Given the description of an element on the screen output the (x, y) to click on. 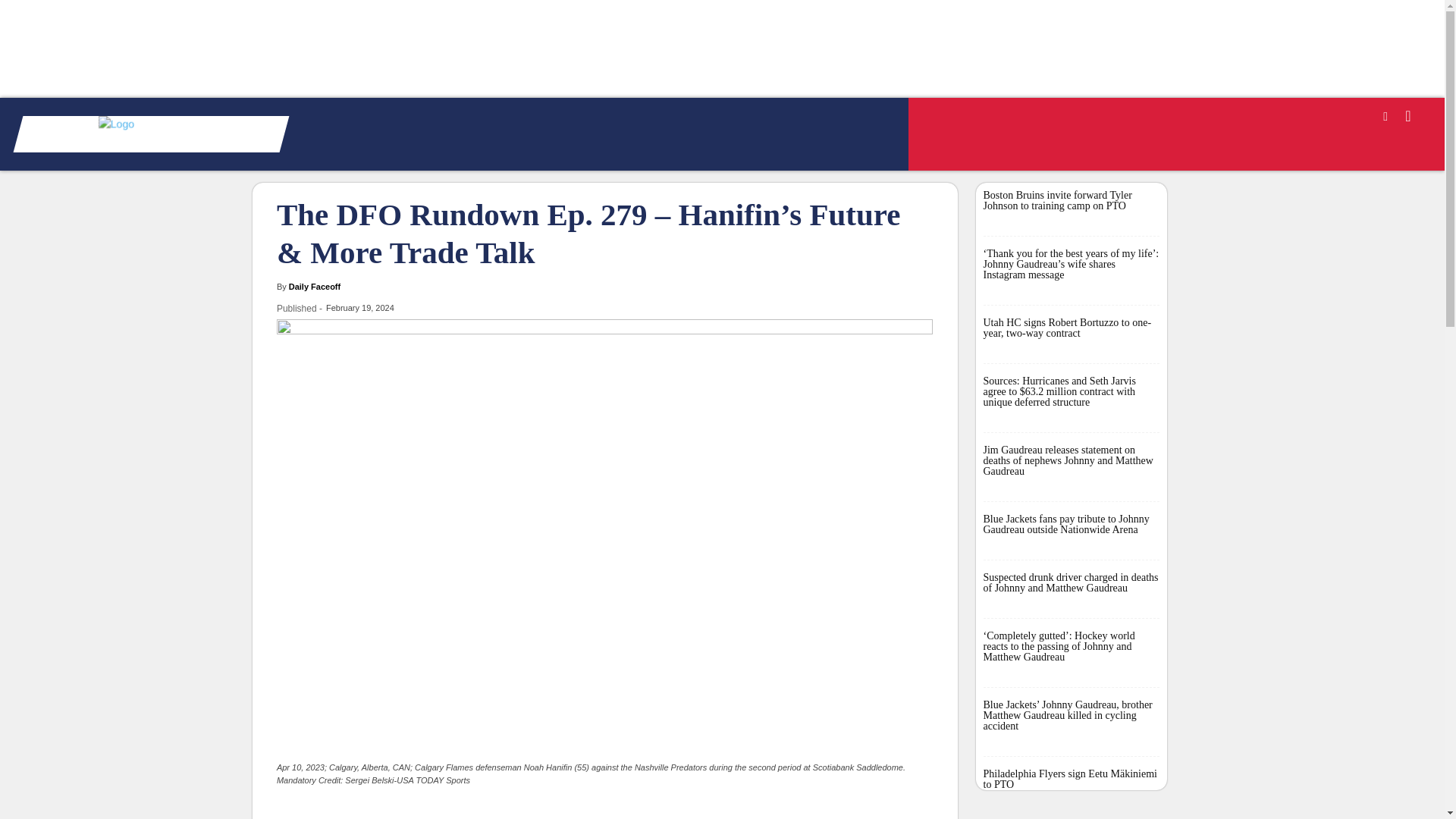
Utah HC signs Robert Bortuzzo to one-year, two-way contract (1066, 327)
